Given the description of an element on the screen output the (x, y) to click on. 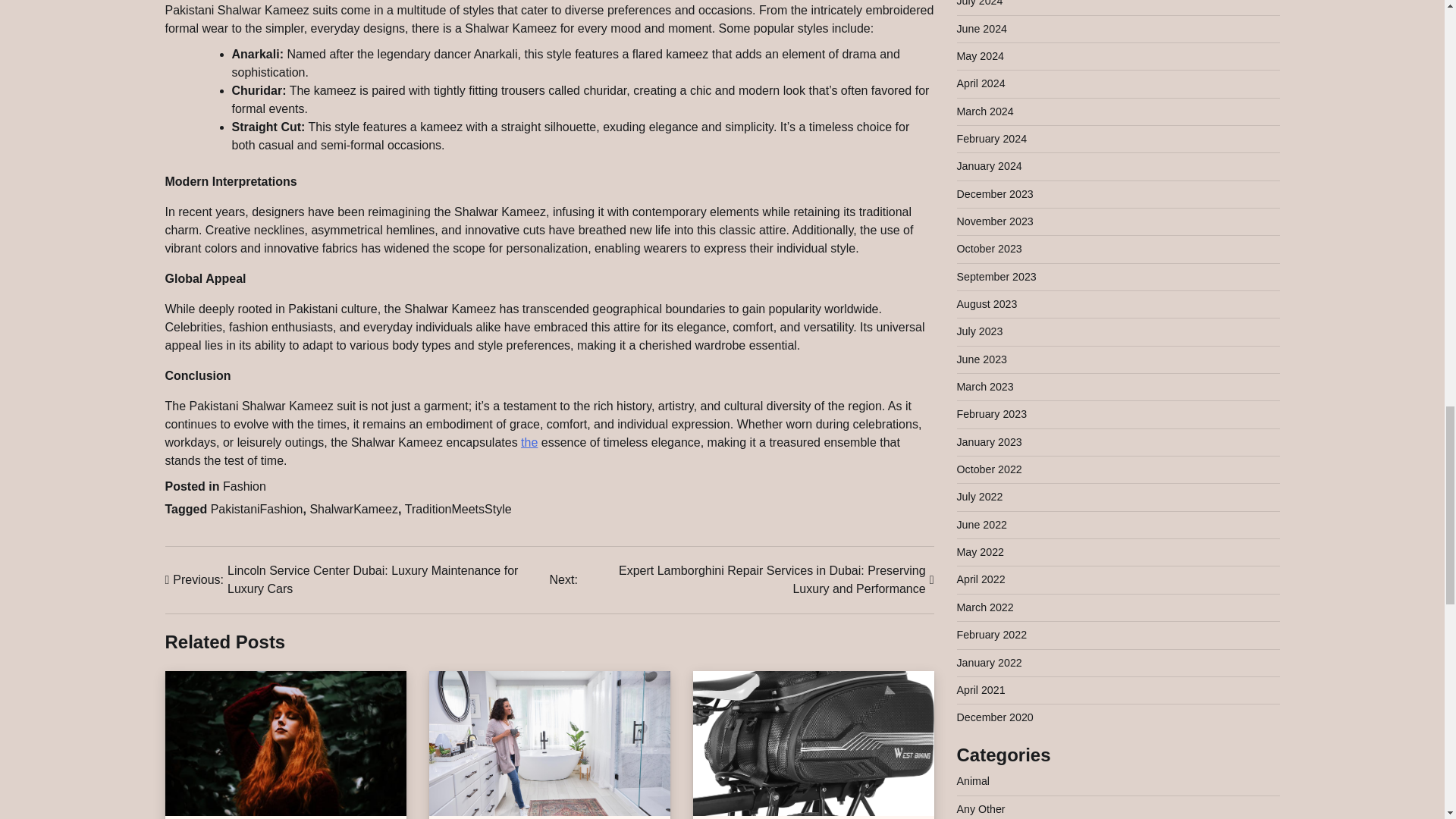
TraditionMeetsStyle (458, 508)
ShalwarKameez (352, 508)
Fashion (244, 486)
the (529, 441)
PakistaniFashion (256, 508)
